Given the description of an element on the screen output the (x, y) to click on. 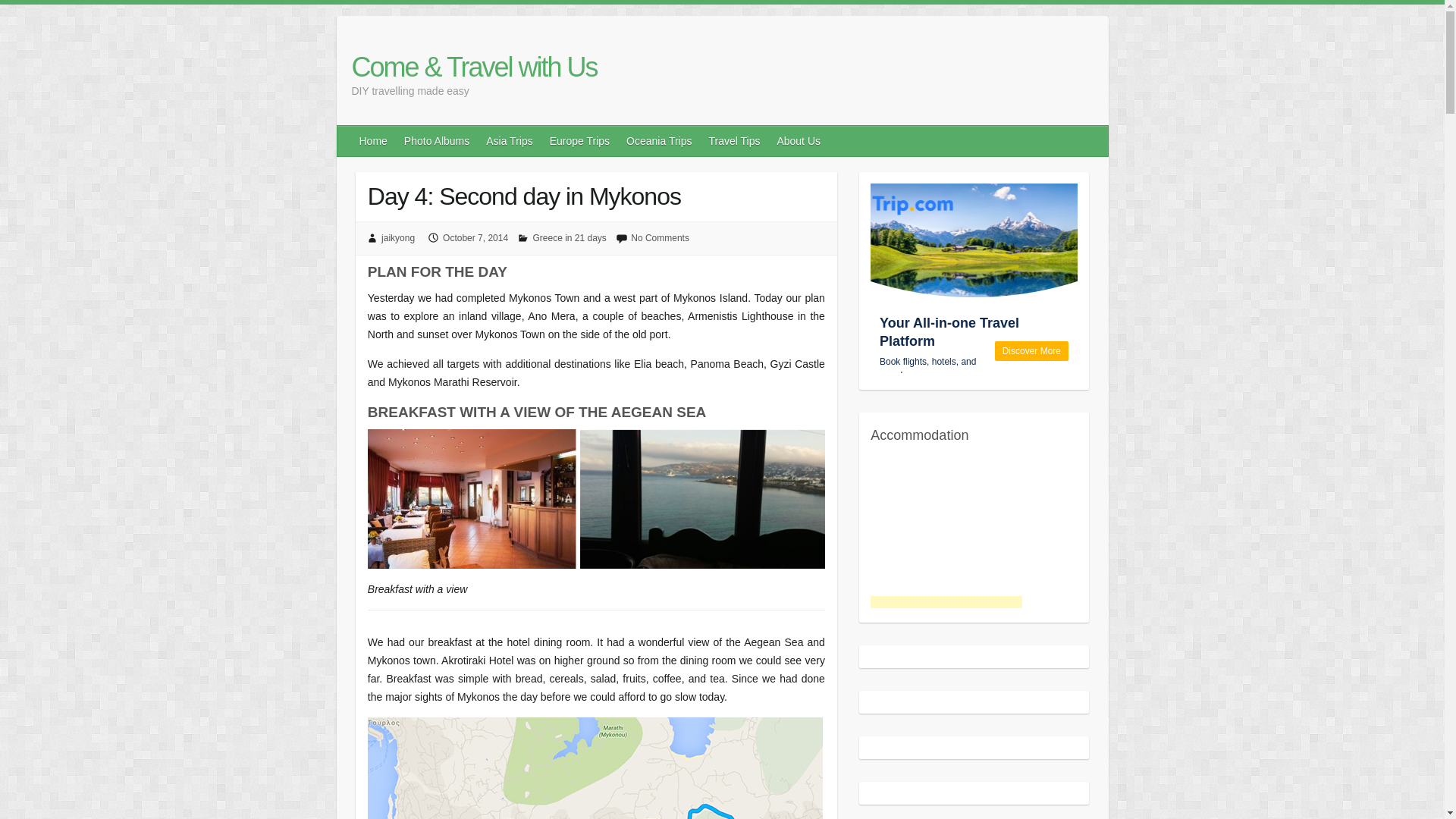
Asia Trips (510, 141)
Photo Albums (437, 141)
Home (374, 141)
